Given the description of an element on the screen output the (x, y) to click on. 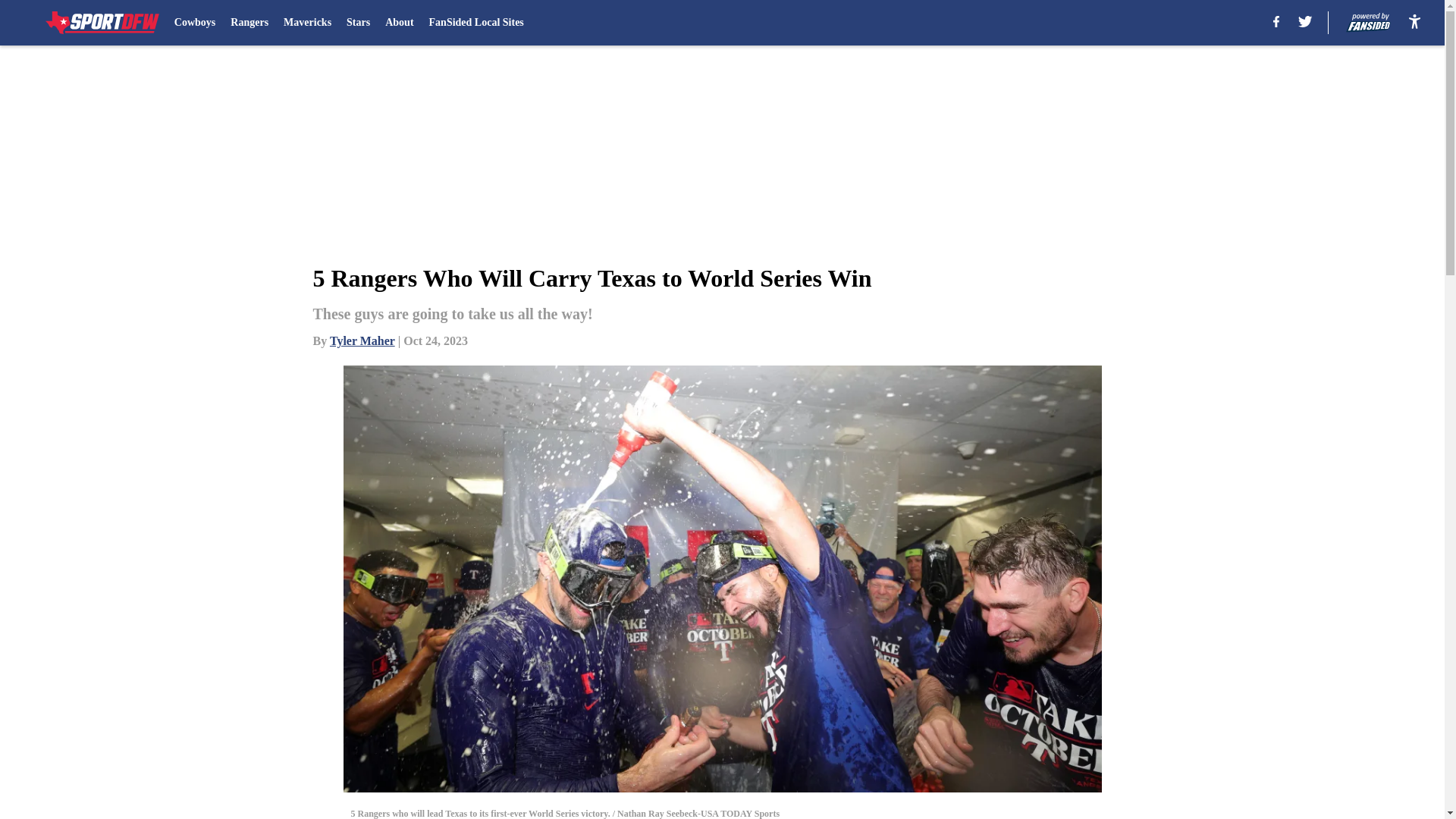
About (399, 22)
Rangers (248, 22)
Mavericks (307, 22)
Stars (357, 22)
Tyler Maher (362, 340)
FanSided Local Sites (476, 22)
Cowboys (194, 22)
